Given the description of an element on the screen output the (x, y) to click on. 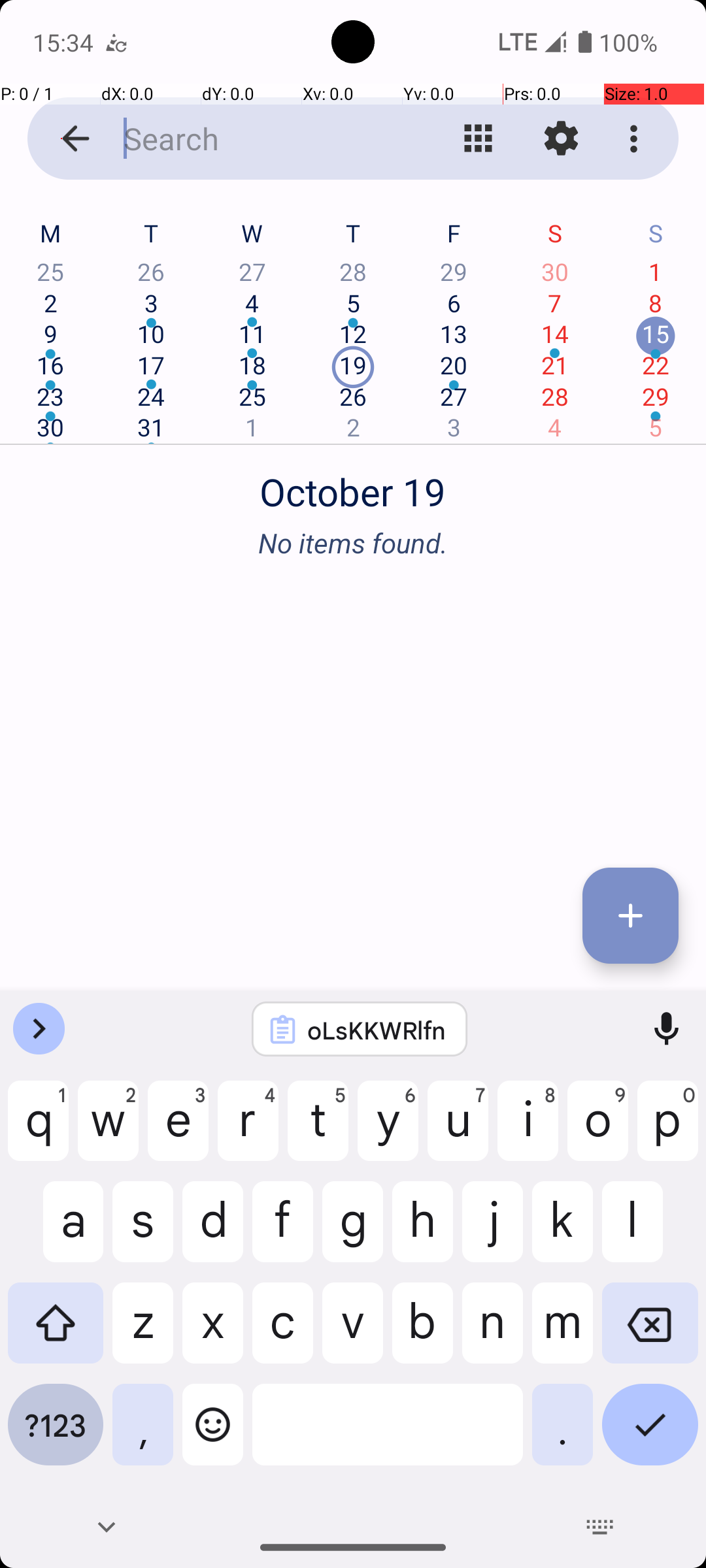
October 19 Element type: android.widget.TextView (352, 483)
oLsKKWRlfn Element type: android.widget.TextView (376, 1029)
